Given the description of an element on the screen output the (x, y) to click on. 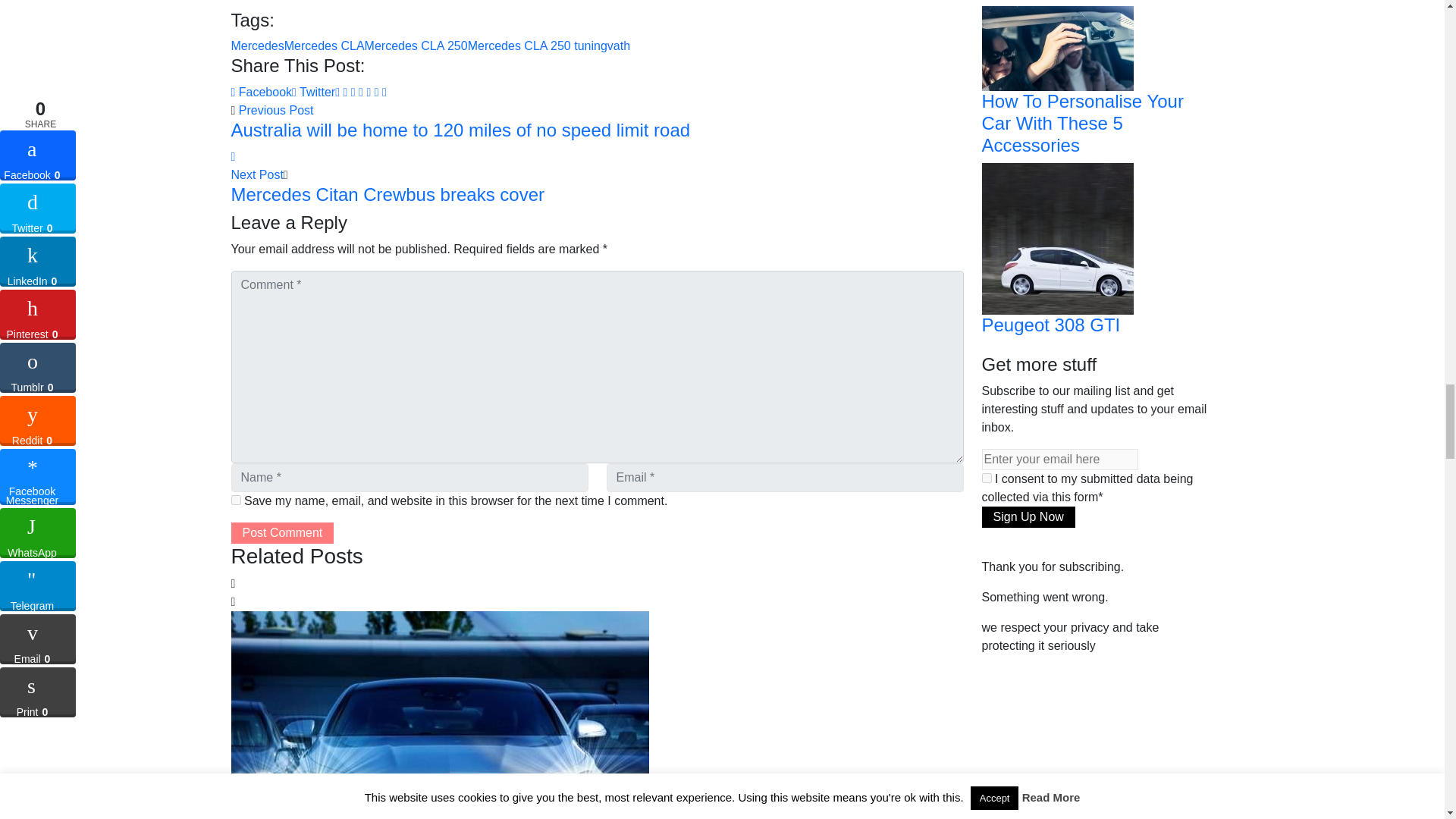
Sign Up Now (1027, 516)
on (986, 478)
Post Comment (281, 532)
yes (235, 500)
